Given the description of an element on the screen output the (x, y) to click on. 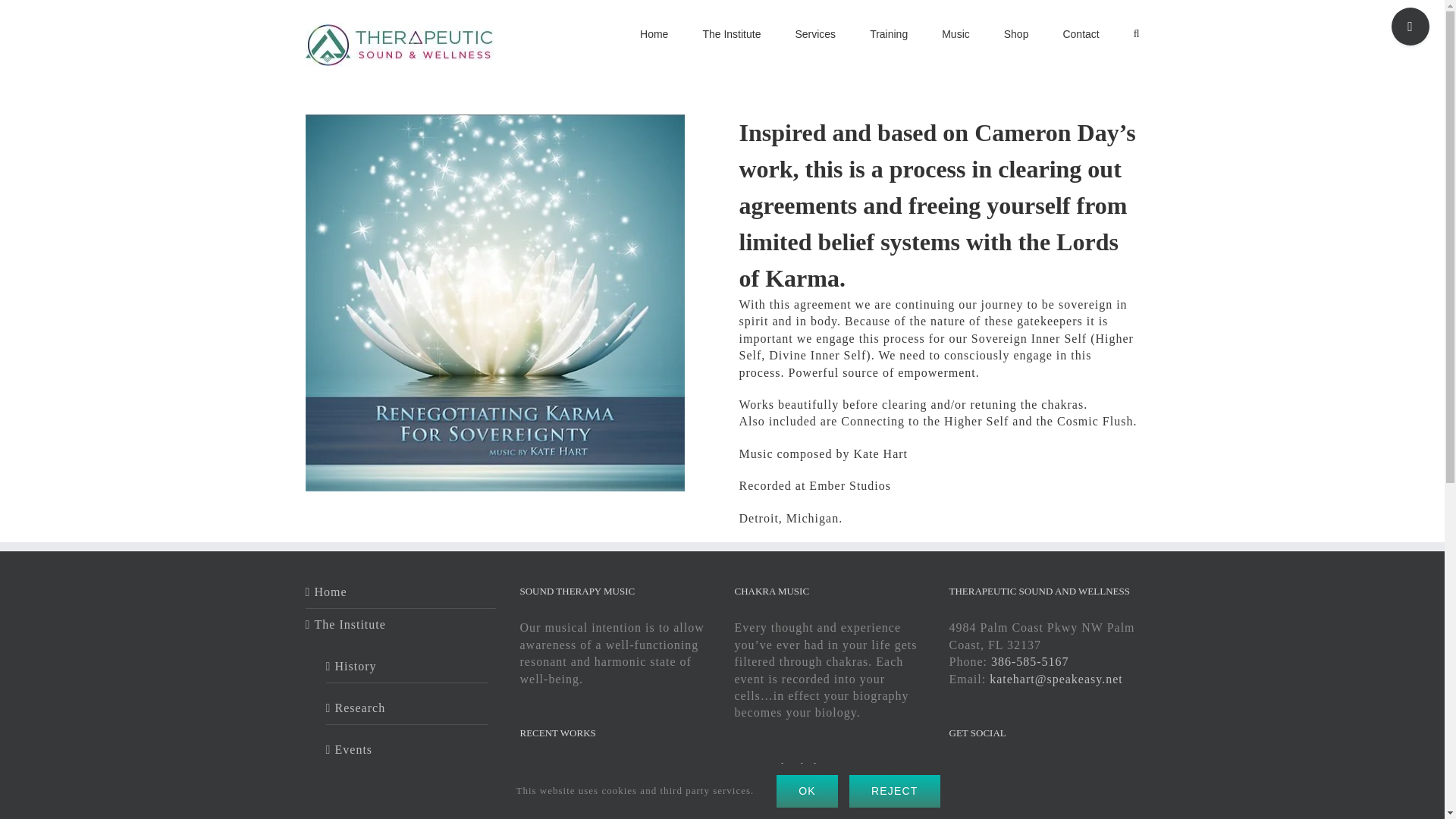
Crystal Bowl Meditation (591, 785)
The Institute (730, 32)
Reclaiming Your Energy (542, 785)
Heartburn (591, 814)
Fertility (640, 814)
Transformation (542, 814)
